Given the description of an element on the screen output the (x, y) to click on. 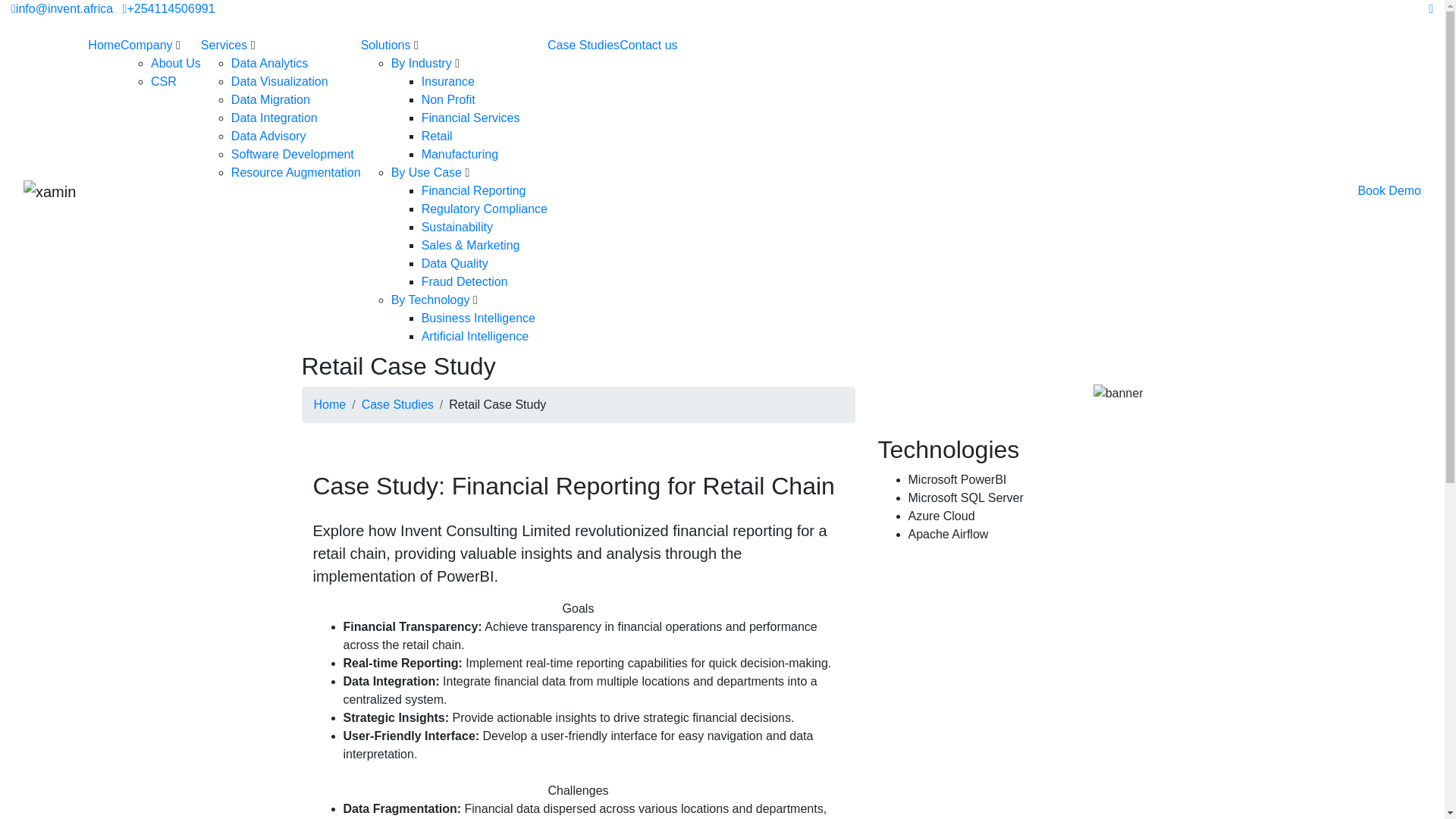
Retail (437, 135)
Business Intelligence (478, 318)
Manufacturing (459, 154)
By Industry (421, 62)
By Technology (430, 299)
CSR (163, 81)
Insurance (448, 81)
Case Studies (397, 404)
Financial Reporting (473, 190)
Case Studies (583, 44)
Data Visualization (280, 81)
By Use Case (426, 172)
Data Quality (454, 263)
Solutions (385, 44)
Services (223, 44)
